Given the description of an element on the screen output the (x, y) to click on. 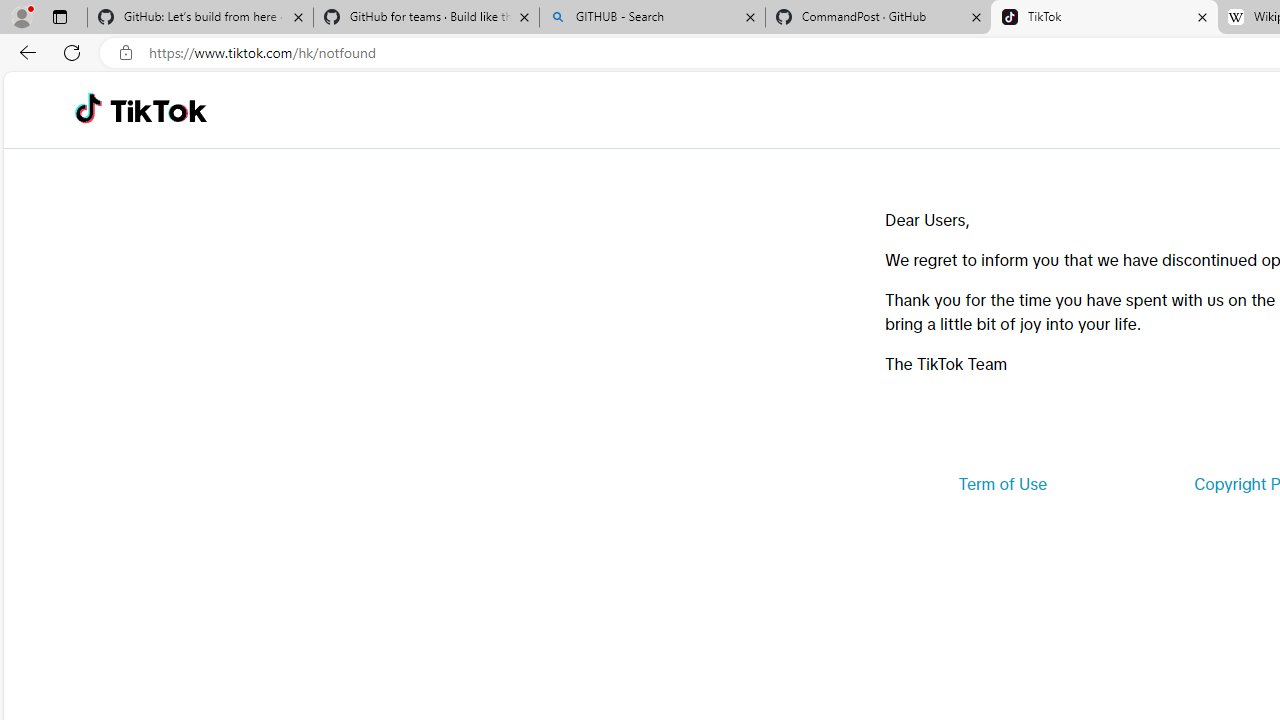
Term of Use (1002, 484)
GITHUB - Search (652, 17)
